Given the description of an element on the screen output the (x, y) to click on. 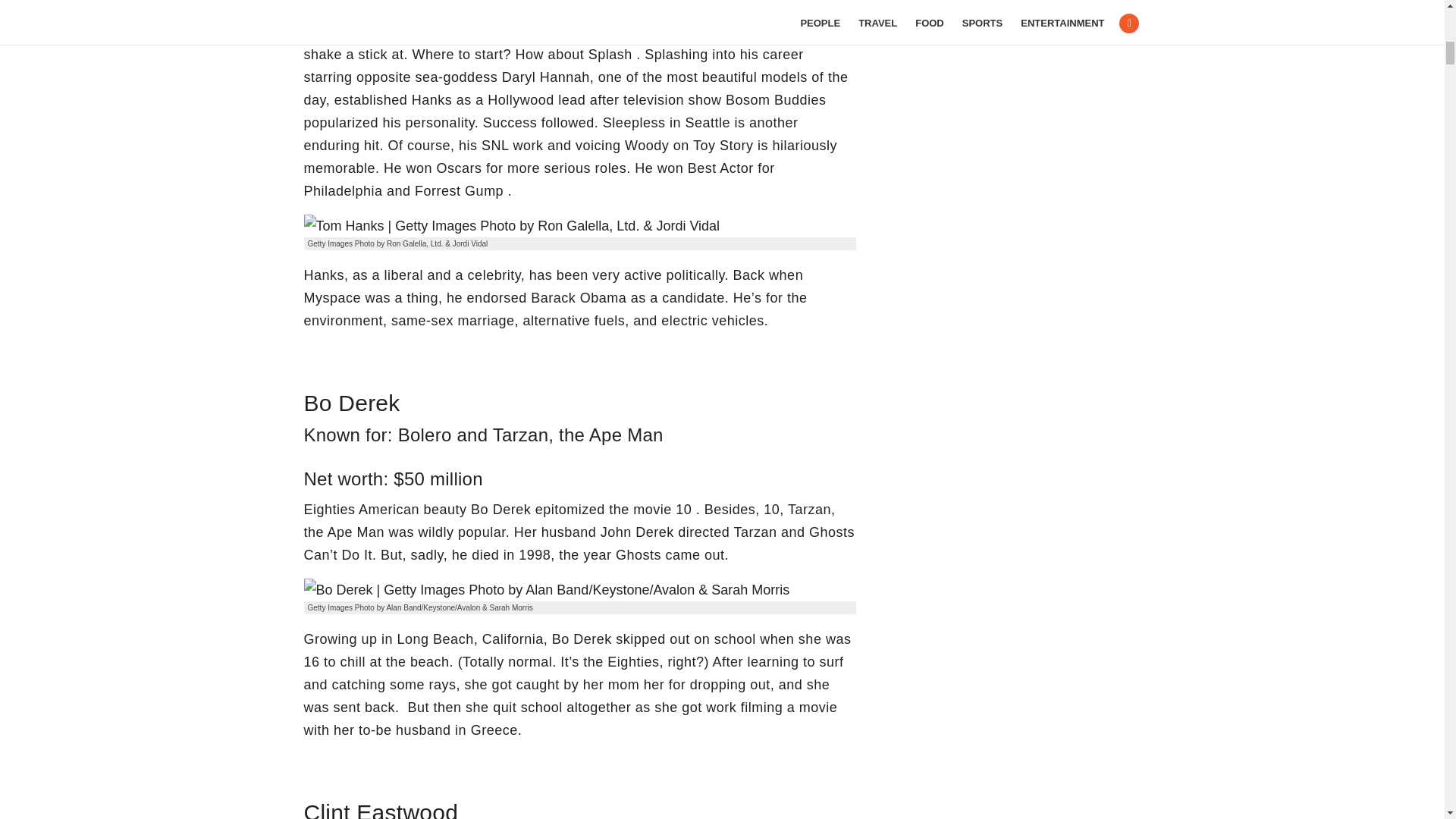
Bo Derek (545, 589)
Tom Hanks (510, 225)
